Given the description of an element on the screen output the (x, y) to click on. 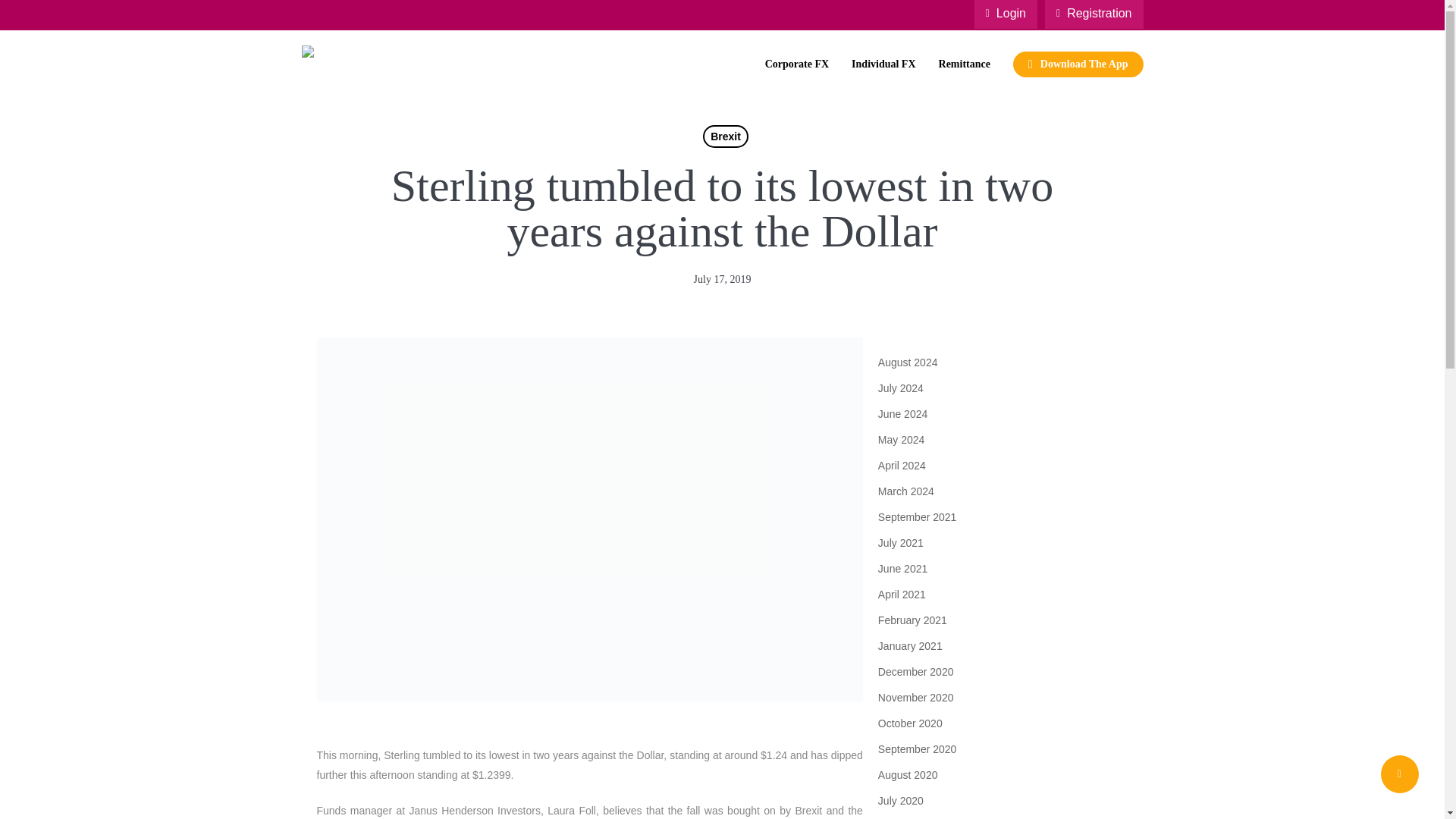
September 2021 (993, 516)
July 2020 (993, 800)
Corporate FX (797, 64)
December 2020 (993, 671)
January 2021 (993, 646)
Login (1005, 14)
April 2024 (993, 465)
Brexit (725, 136)
August 2024 (993, 362)
June 2024 (993, 414)
